Given the description of an element on the screen output the (x, y) to click on. 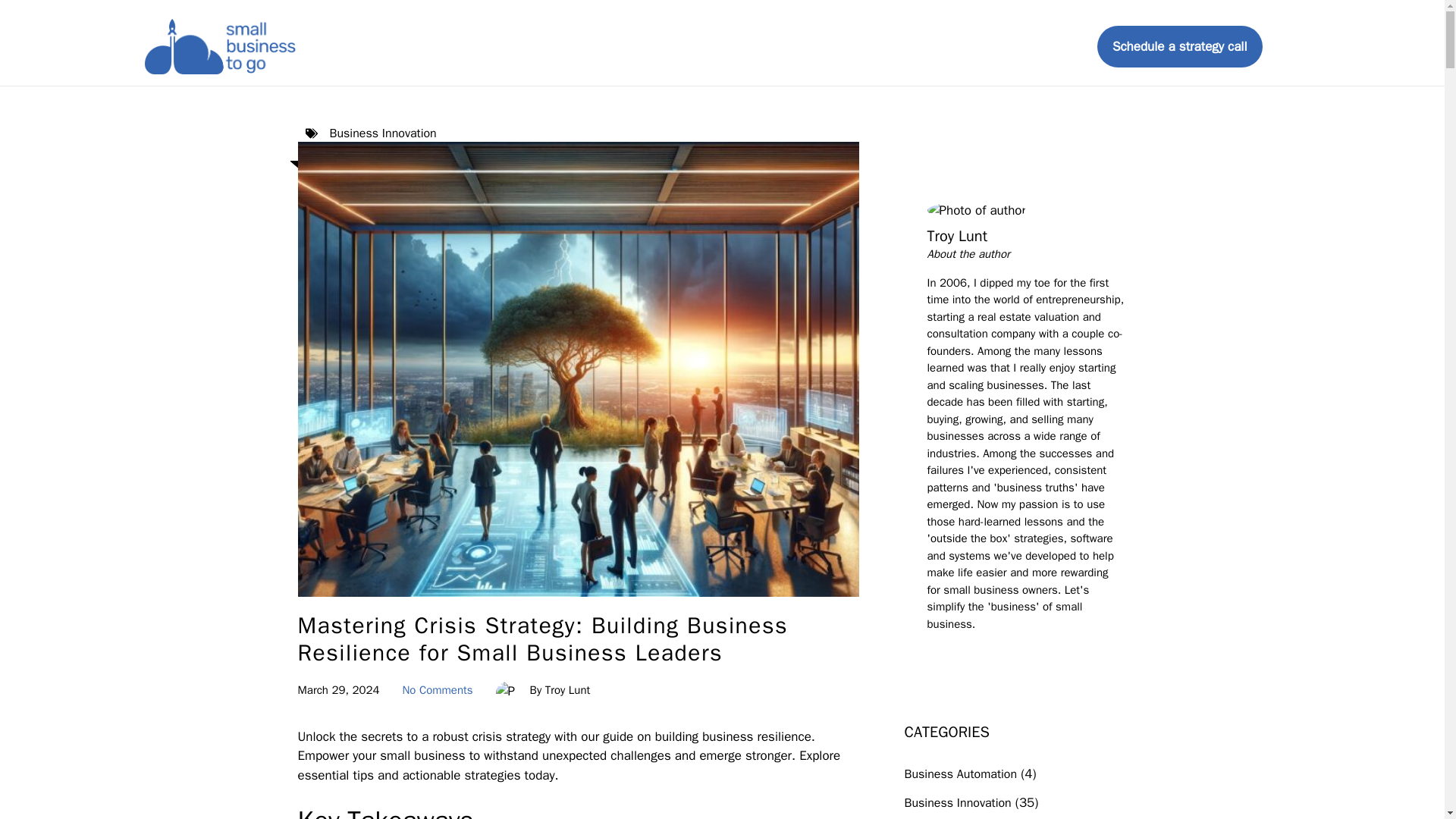
No Comments (436, 689)
Schedule a strategy call (1179, 46)
Business Innovation (382, 133)
